Given the description of an element on the screen output the (x, y) to click on. 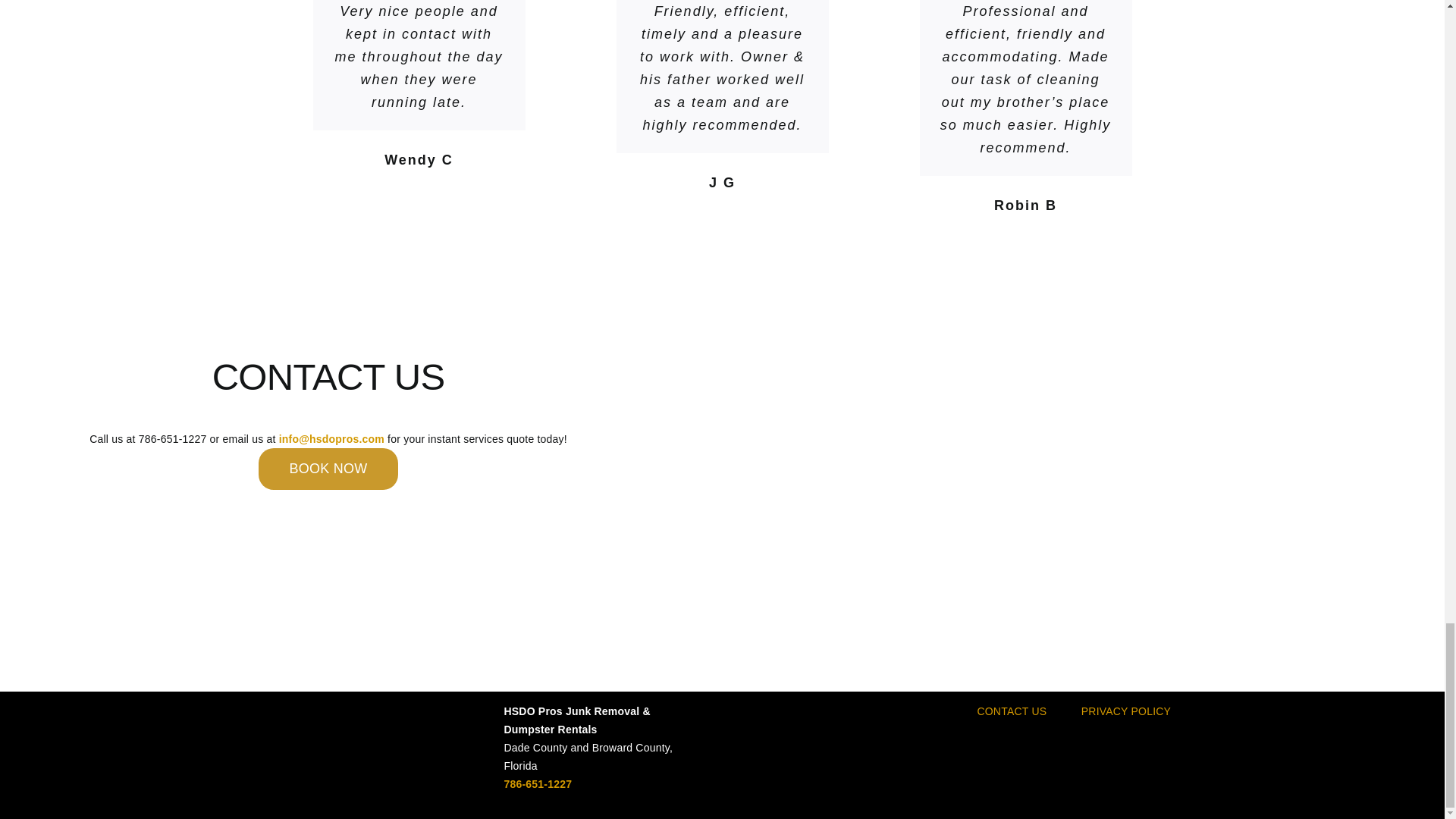
BOOK NOW (328, 468)
CONTACT US (1011, 711)
HSDO-PROS-logo-2022 (366, 736)
786-651-1227 (537, 784)
PRIVACY POLICY (1125, 711)
